Given the description of an element on the screen output the (x, y) to click on. 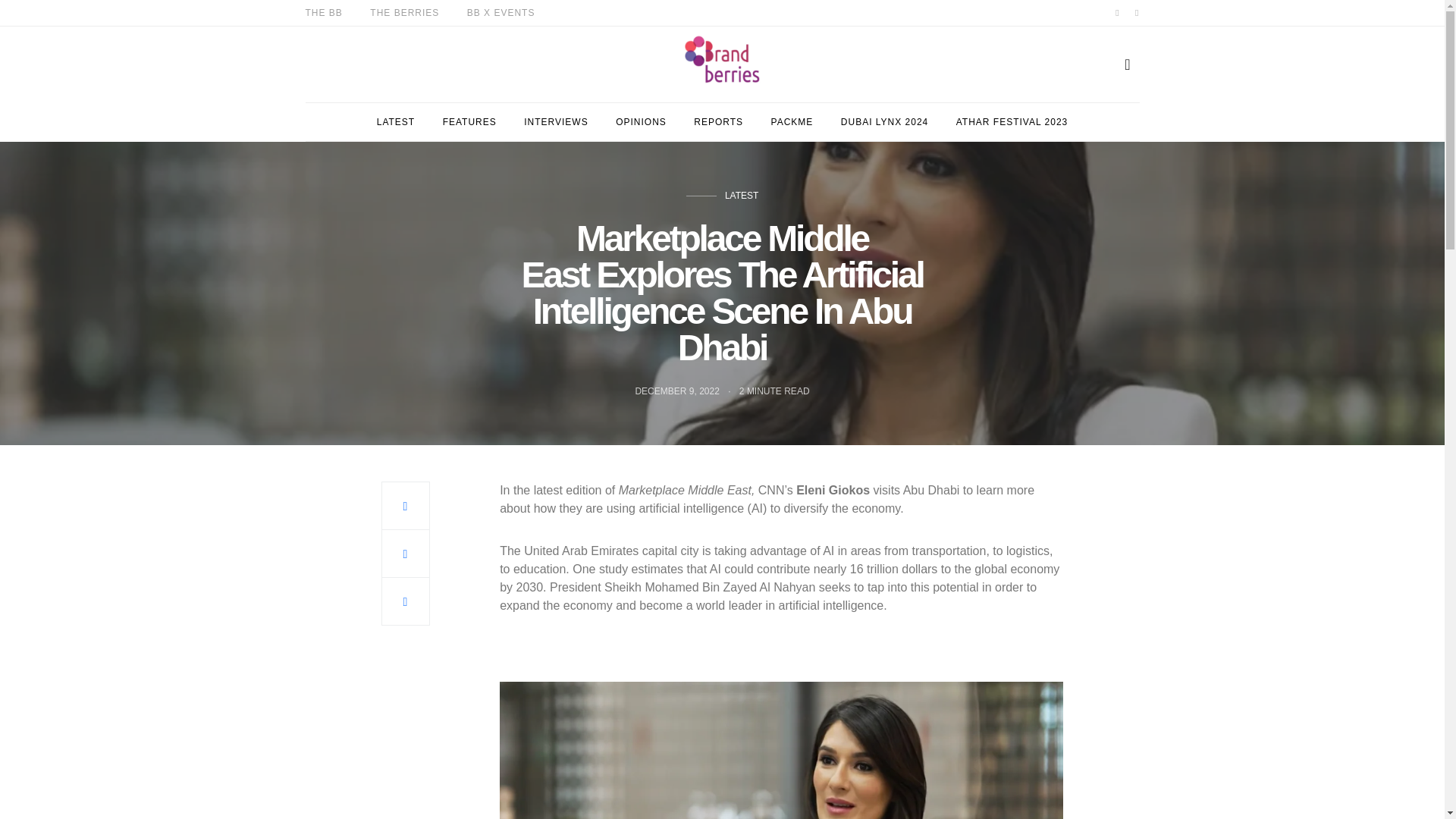
REPORTS (718, 121)
BB X EVENTS (501, 12)
LATEST (741, 195)
PACKME (792, 121)
ATHAR FESTIVAL 2023 (1012, 121)
OPINIONS (640, 121)
INTERVIEWS (556, 121)
DUBAI LYNX 2024 (884, 121)
FEATURES (469, 121)
LATEST (395, 121)
THE BB (323, 12)
THE BERRIES (404, 12)
